Given the description of an element on the screen output the (x, y) to click on. 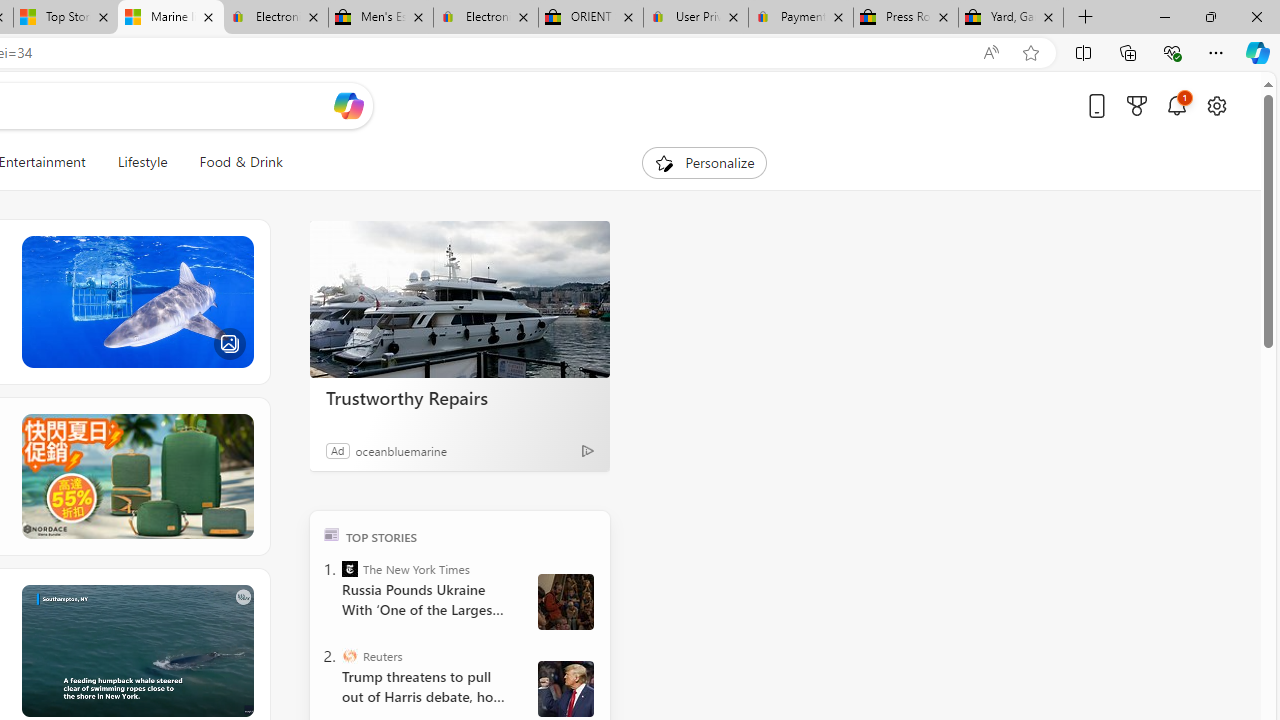
Reuters (349, 655)
Trustworthy Repairs (459, 299)
Class: hero-image (136, 650)
Trustworthy Repairs (459, 397)
The New York Times (349, 568)
